Given the description of an element on the screen output the (x, y) to click on. 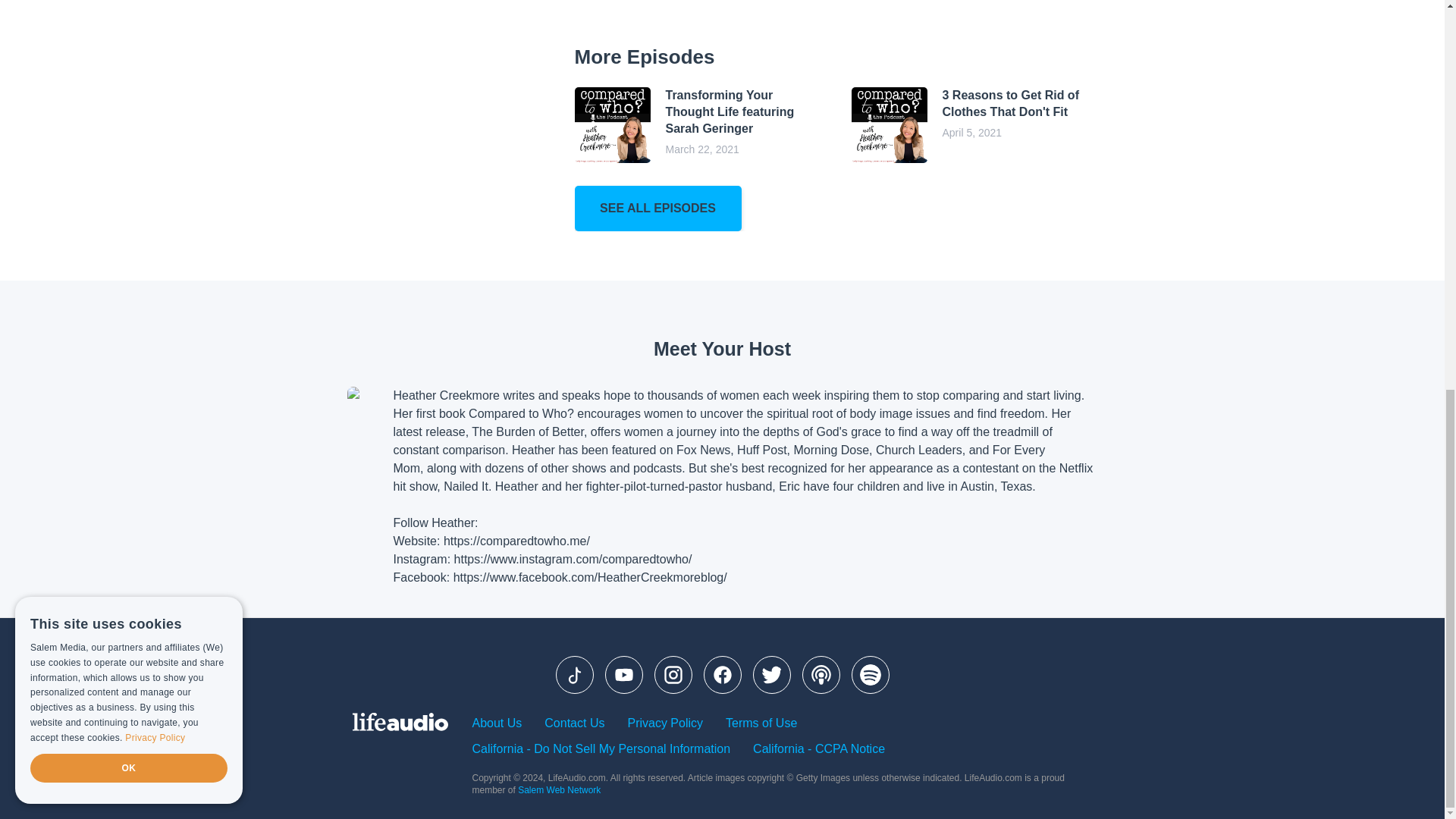
SEE ALL EPISODES (973, 124)
